Given the description of an element on the screen output the (x, y) to click on. 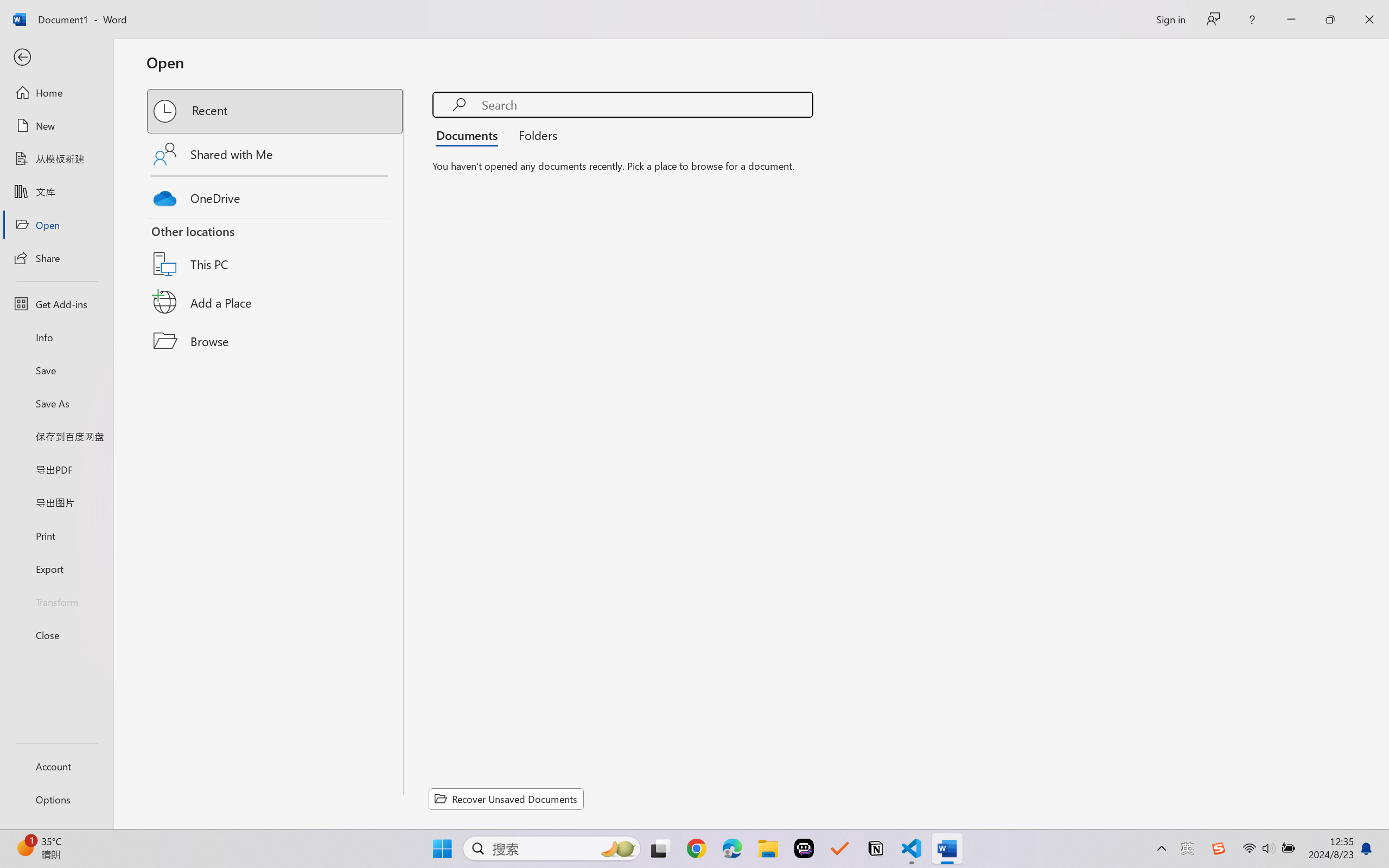
Browse (275, 340)
Print (56, 535)
Save As (56, 403)
Transform (56, 601)
Shared with Me (275, 153)
Recent (275, 110)
